Given the description of an element on the screen output the (x, y) to click on. 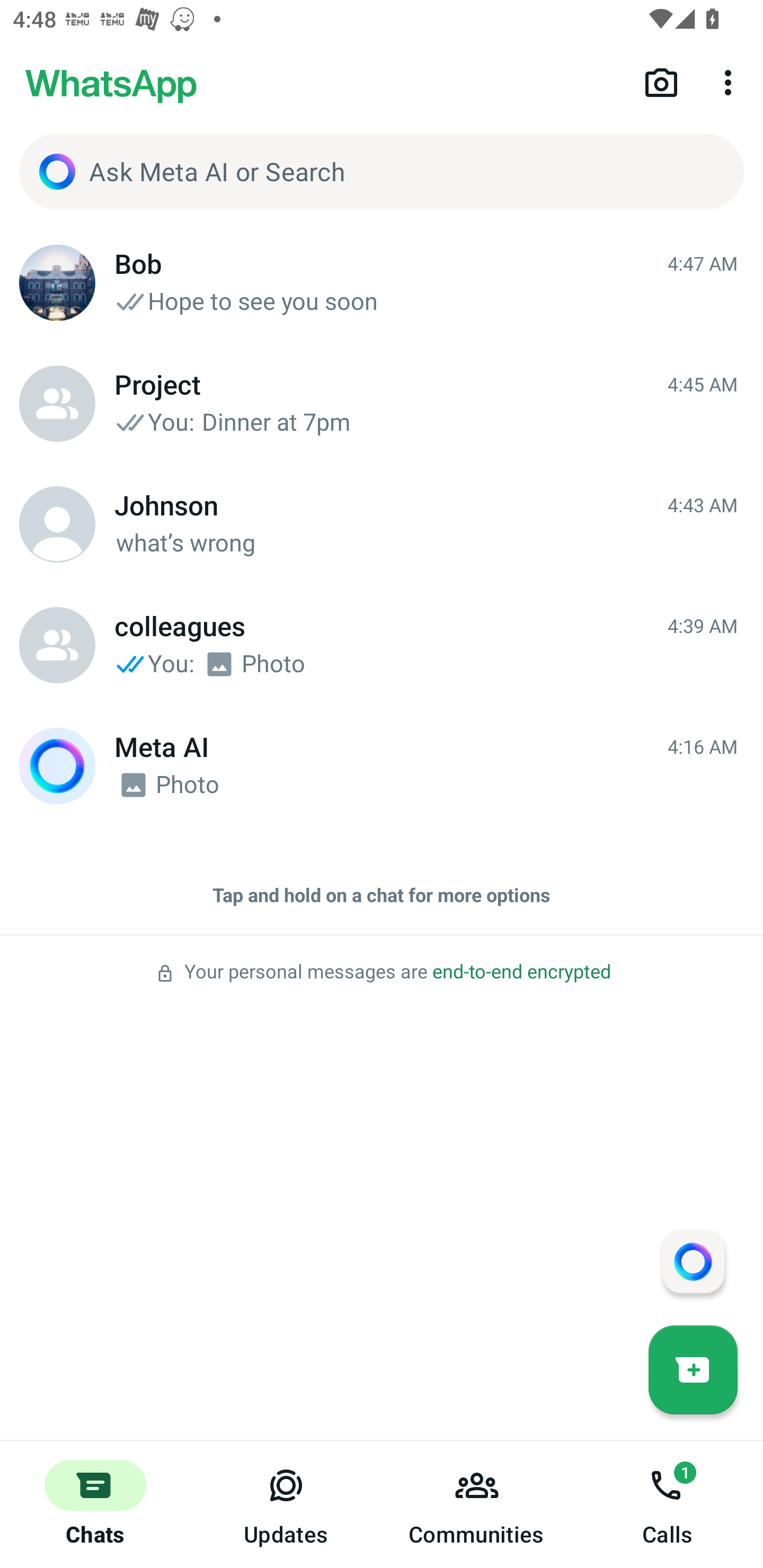
Camera (661, 81)
More options (731, 81)
Bob Bob 4:47 AM 4:47 AM Hope to see you soon (381, 282)
Bob (57, 282)
Project (57, 403)
Johnson Johnson 4:43 AM 4:43 AM what’s wrong (381, 524)
Johnson (57, 524)
colleagues colleagues 4:39 AM 4:39 AM You:  Photo (381, 644)
colleagues (57, 644)
Meta AI Meta AI 4:16 AM 4:16 AM Photo (381, 765)
Meta AI (57, 765)
end-to-end encrypted (521, 972)
Message your assistant (692, 1261)
New chat (692, 1369)
Updates (285, 1504)
Communities (476, 1504)
Calls, 1 new notification Calls (667, 1504)
